Given the description of an element on the screen output the (x, y) to click on. 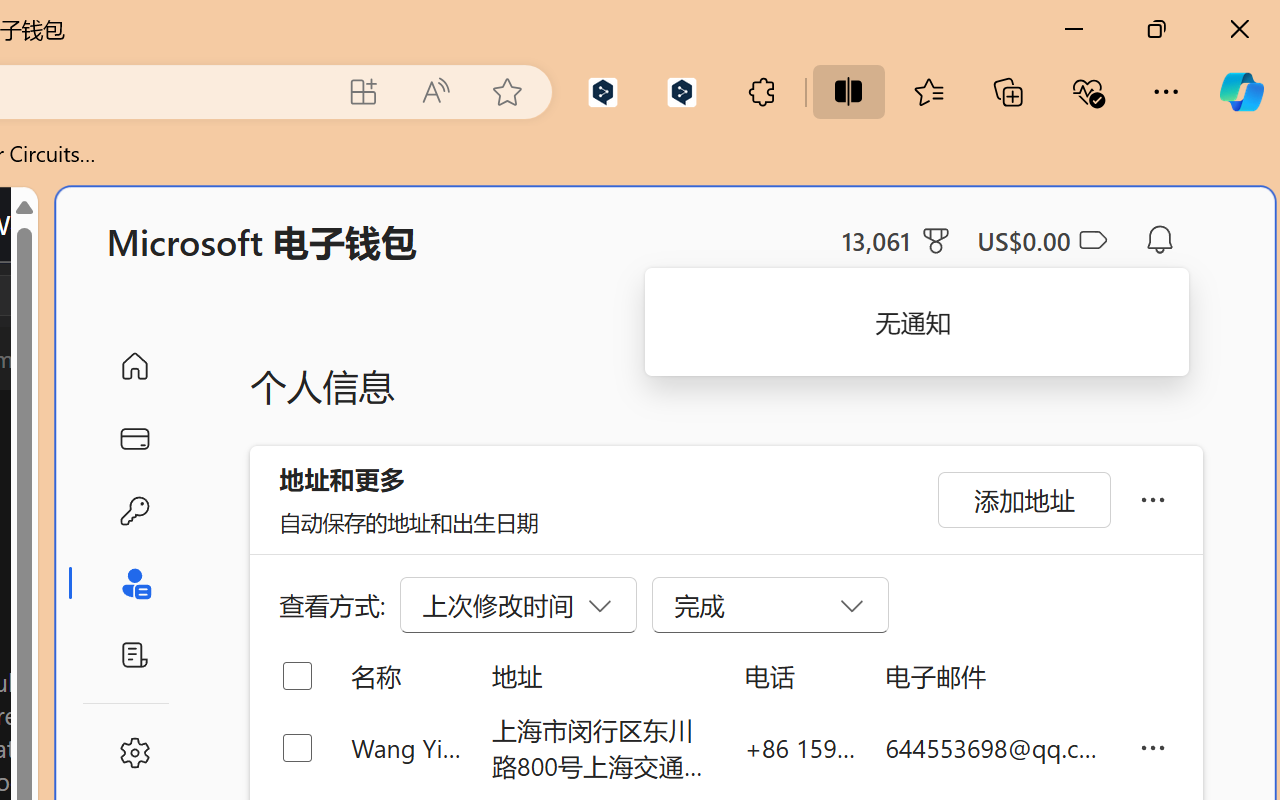
+86 159 0032 4640 (799, 747)
Class: actions-container (94, 295)
Wang Yian (406, 747)
